Given the description of an element on the screen output the (x, y) to click on. 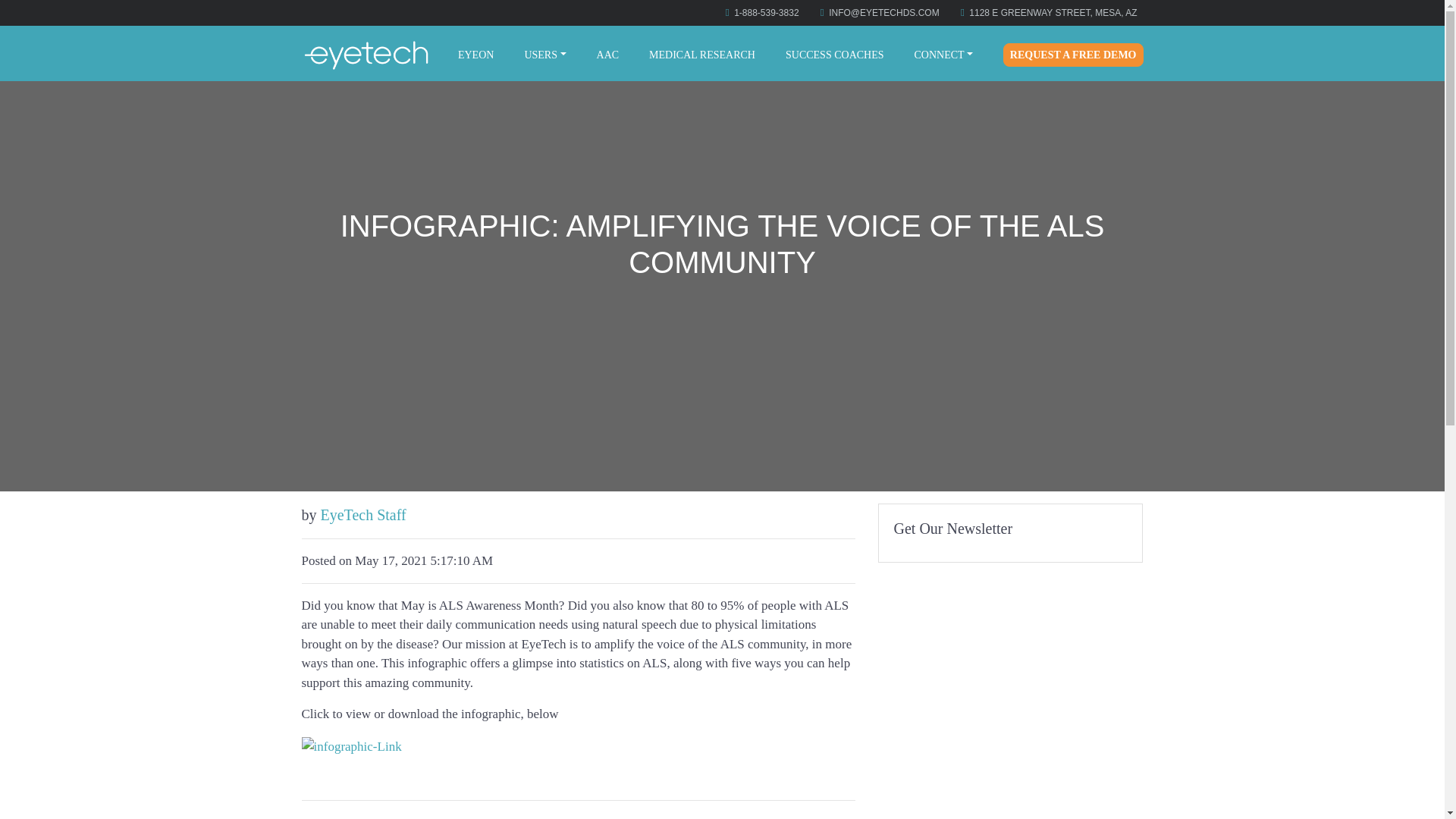
EyeOn (475, 54)
SUCCESS COACHES (833, 54)
Success Coaches (833, 54)
MEDICAL RESEARCH (702, 54)
Users (545, 54)
AAC (608, 54)
USERS (545, 54)
1-888-539-3832 (765, 12)
EyeTech Staff (363, 514)
Connect (943, 54)
